Given the description of an element on the screen output the (x, y) to click on. 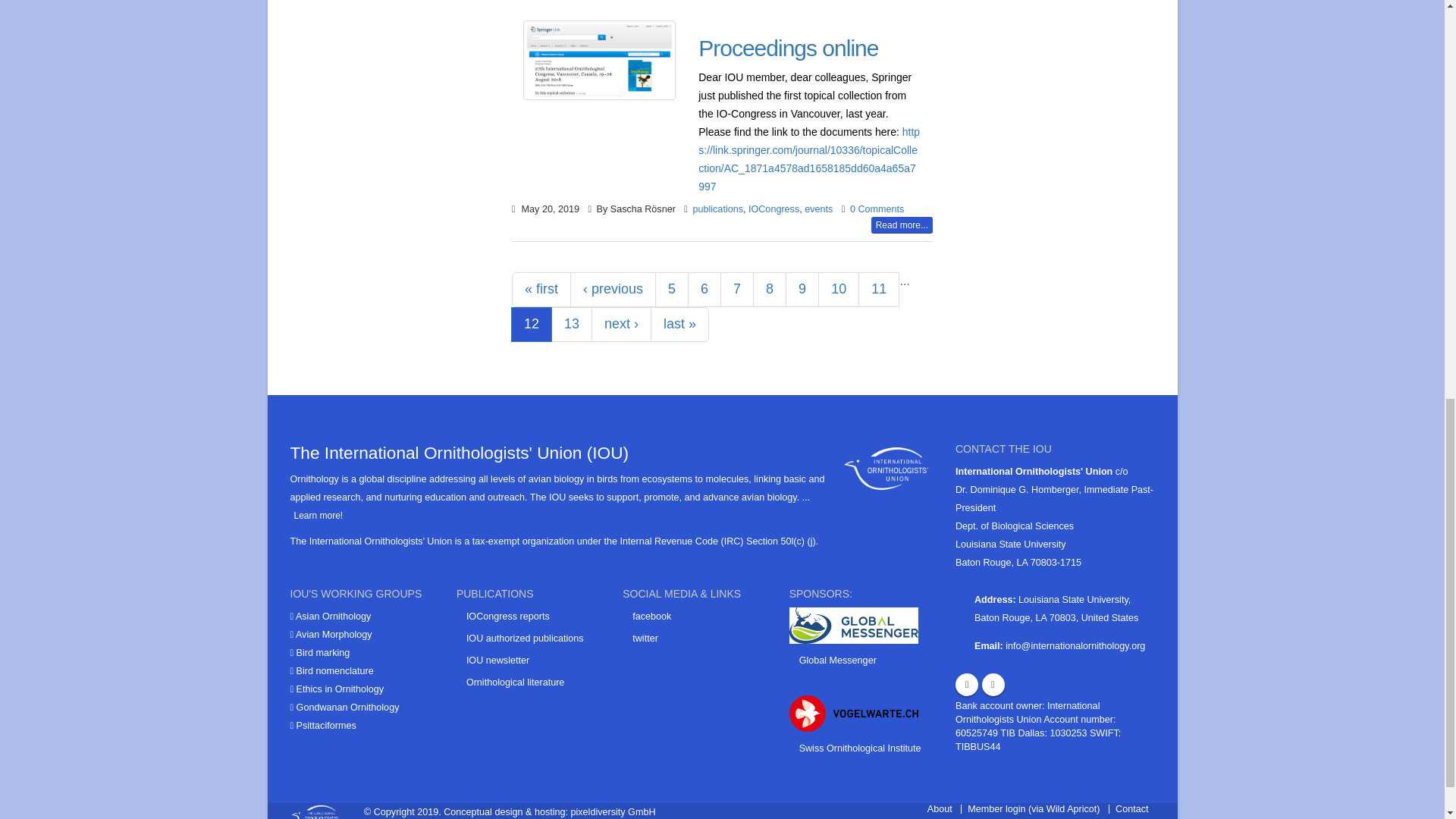
Go to page 10 (838, 289)
Go to page 5 (671, 289)
Go to previous page (613, 289)
Go to page 6 (703, 289)
Go to first page (541, 289)
Go to page 9 (802, 289)
Go to page 8 (769, 289)
Go to page 7 (737, 289)
